Given the description of an element on the screen output the (x, y) to click on. 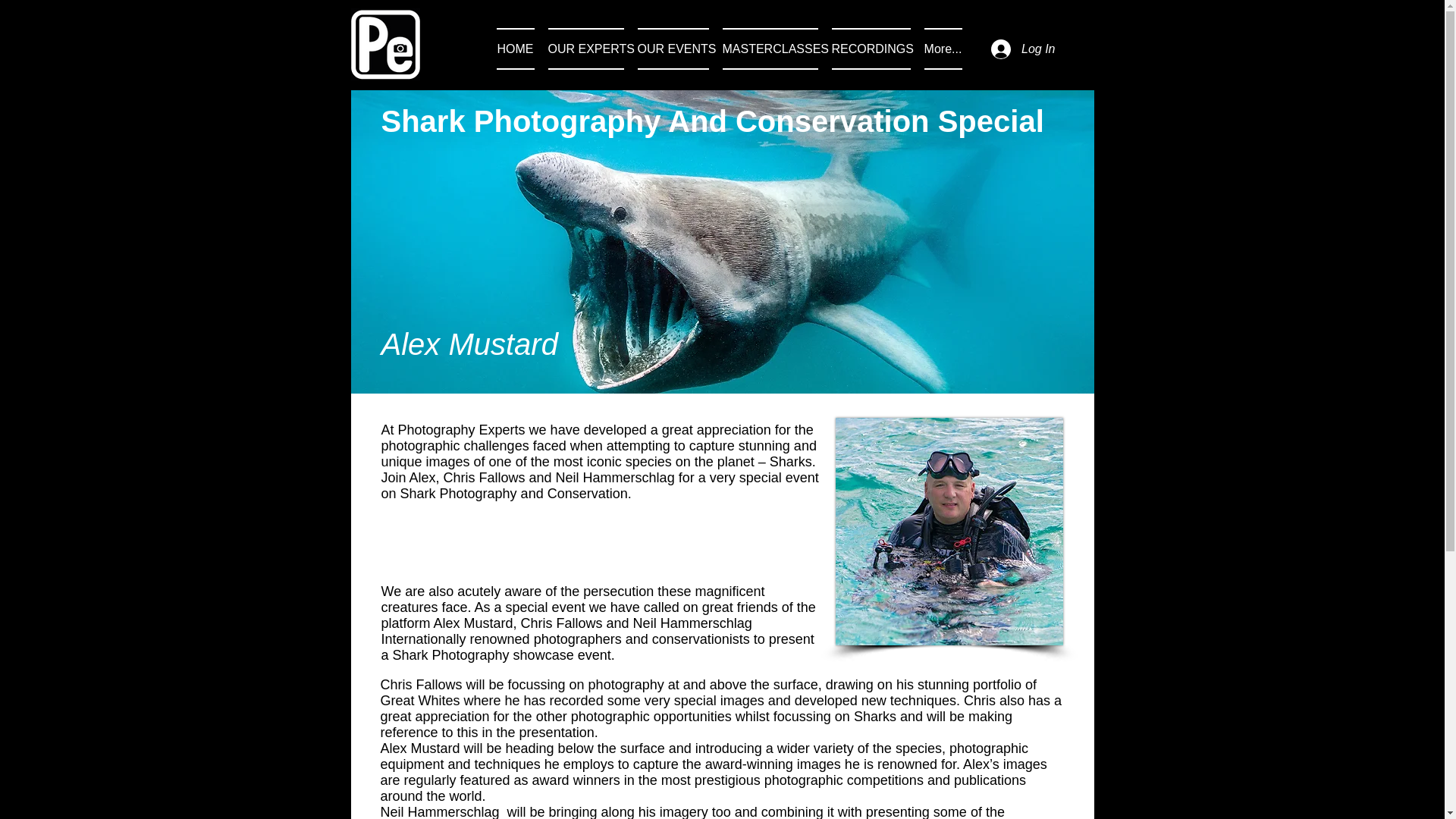
OUR EXPERTS (585, 48)
Log In (1022, 49)
OUR EVENTS (673, 48)
favicon-96x96.png (384, 44)
HOME (518, 48)
RECORDINGS (871, 48)
MASTERCLASSES (770, 48)
